Given the description of an element on the screen output the (x, y) to click on. 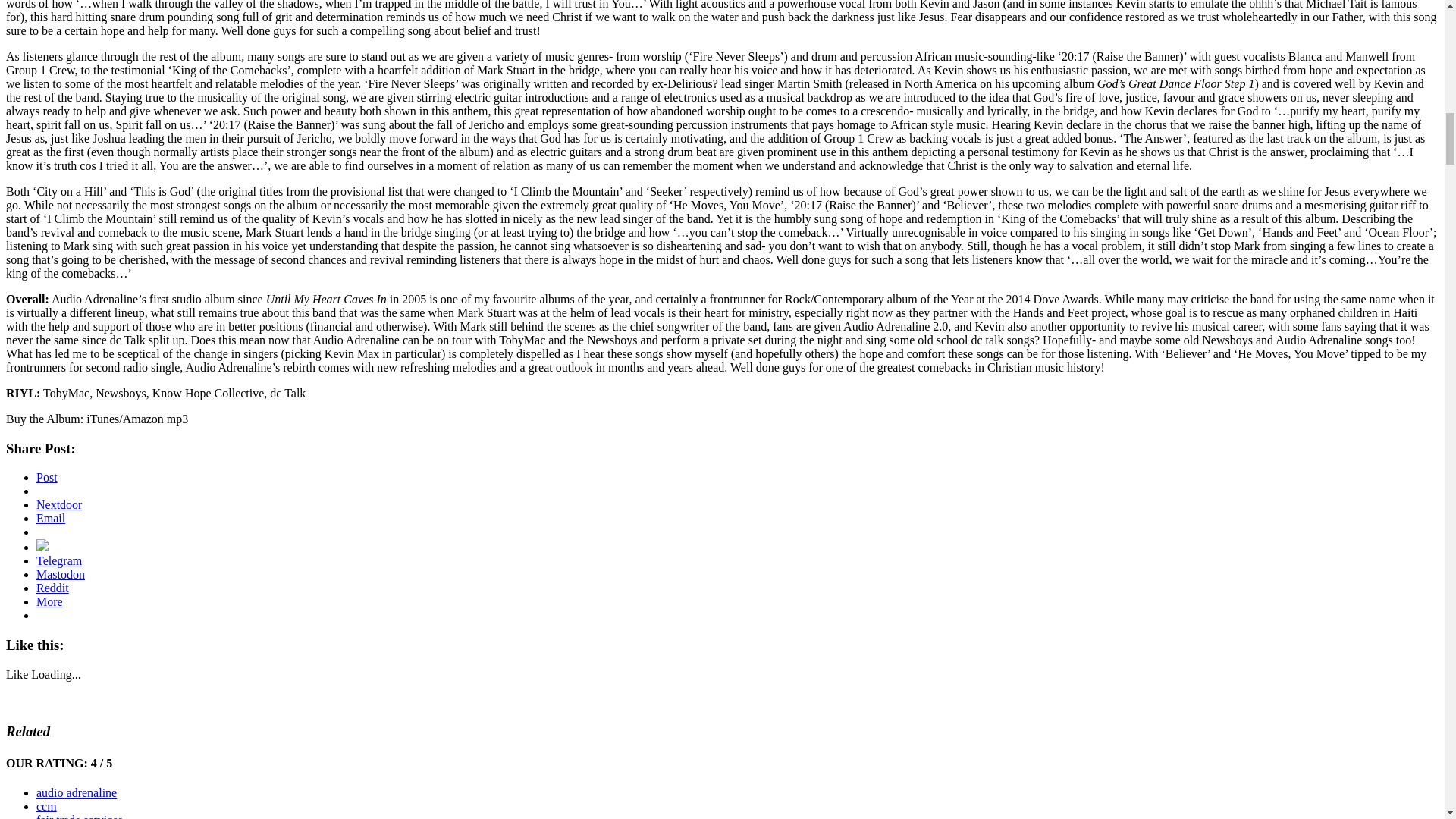
audio adrenaline (76, 792)
Mastodon (60, 574)
Reddit (52, 587)
More (49, 601)
Click to email a link to a friend (50, 517)
Nextdoor (58, 504)
Click to share on Nextdoor (58, 504)
Email (50, 517)
Telegram (58, 560)
Click to share on Mastodon (60, 574)
Click to share on Reddit (52, 587)
Click to share on Telegram (58, 560)
Post (47, 477)
